Given the description of an element on the screen output the (x, y) to click on. 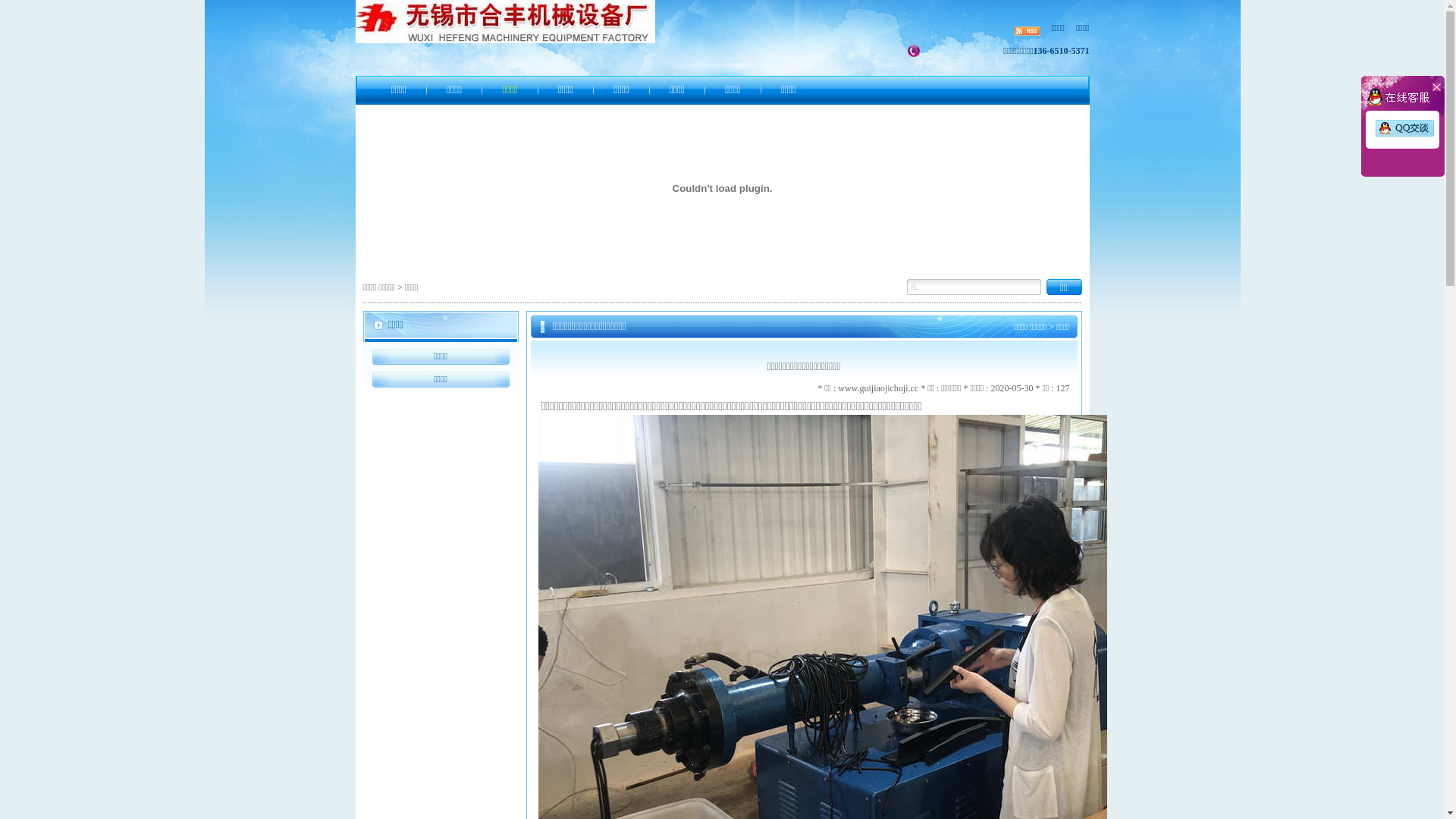
  Element type: text (1435, 84)
